Given the description of an element on the screen output the (x, y) to click on. 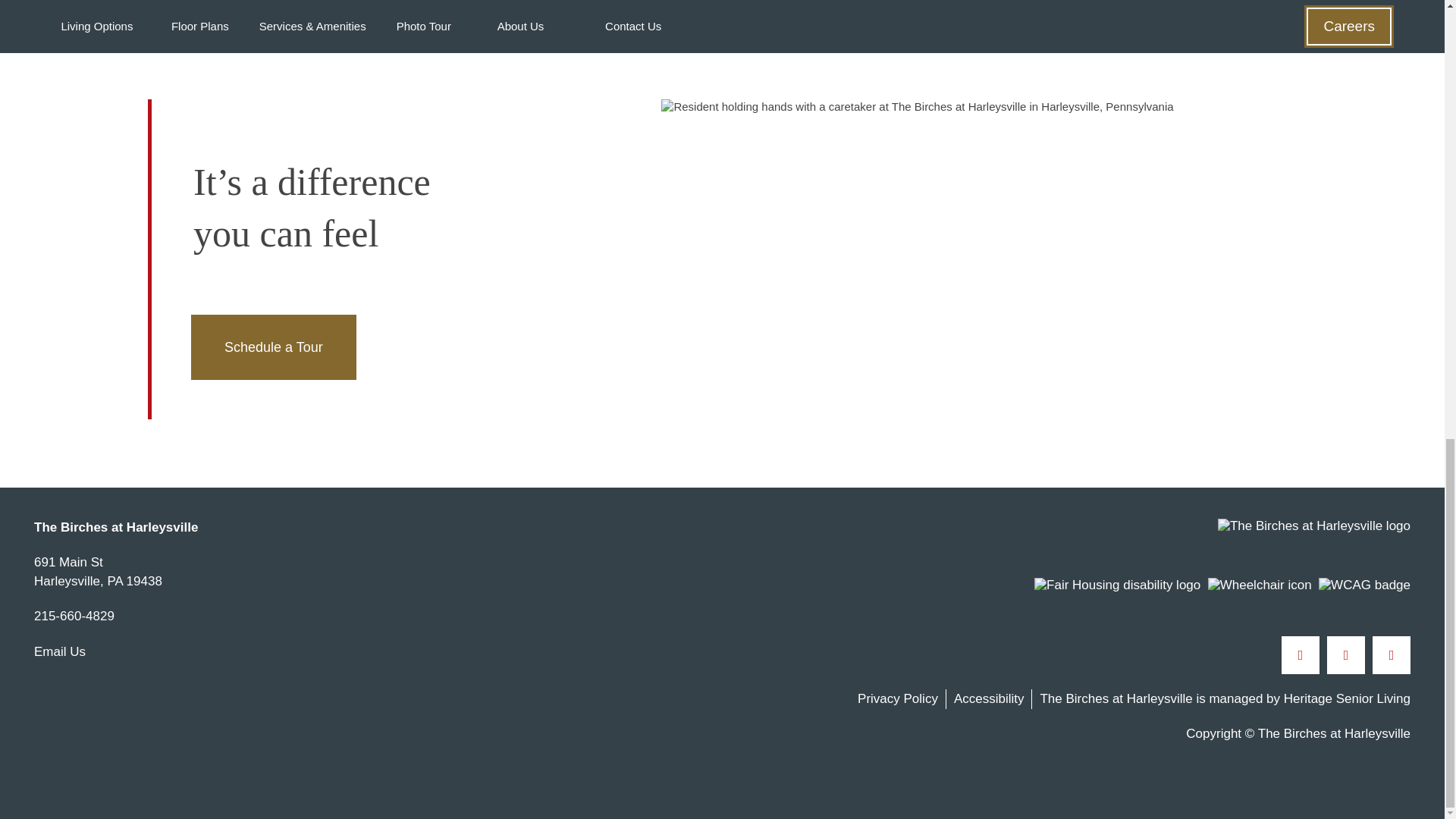
Google My Business (1391, 655)
Property Phone Number (74, 618)
LinkedIn (1345, 655)
Email Us (59, 651)
Schedule a Tour (97, 571)
215-660-4829 (273, 346)
Facebook (74, 618)
